Given the description of an element on the screen output the (x, y) to click on. 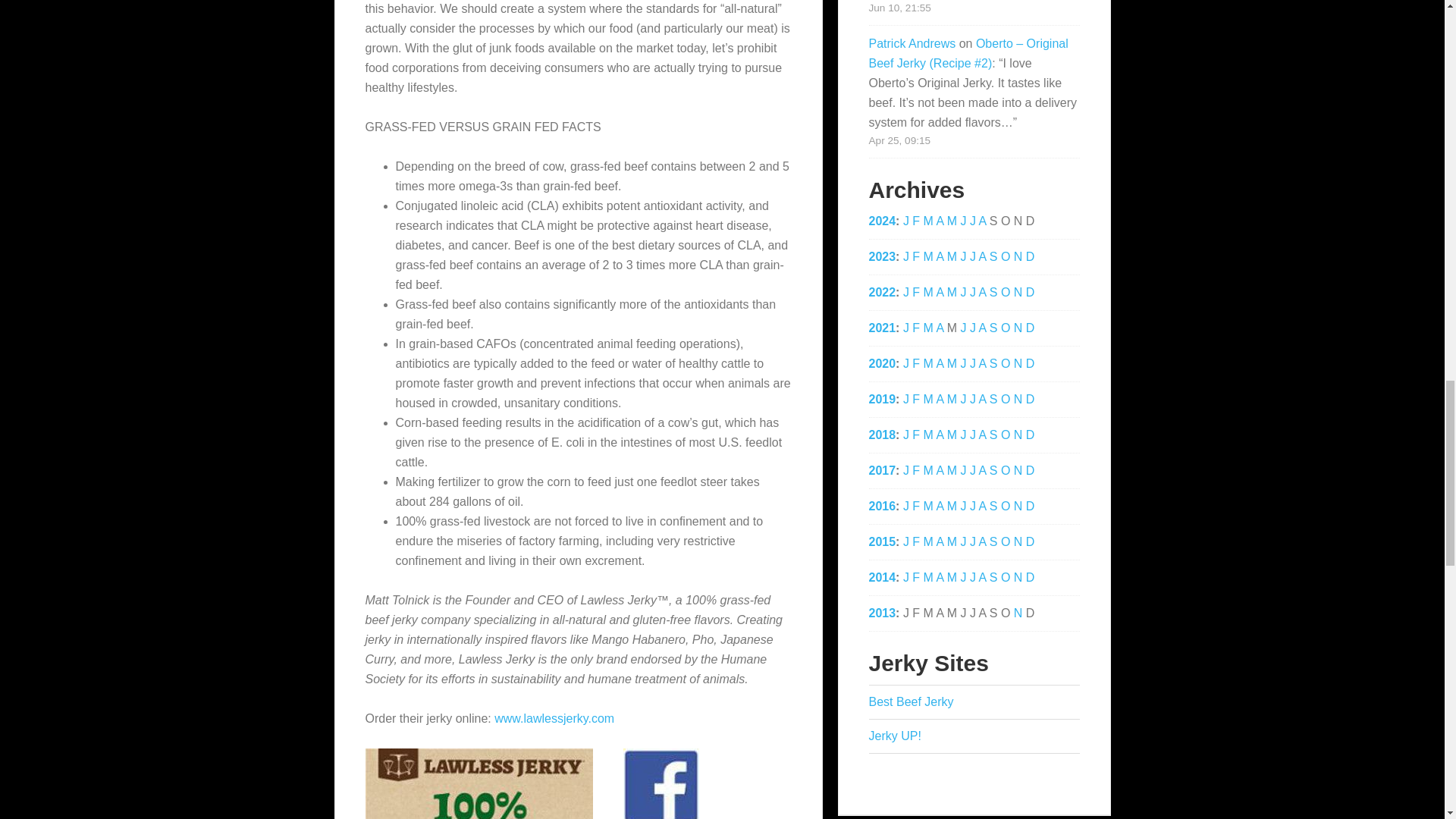
Lawless Jerky (478, 783)
Lawless Jerky Facebook Page (660, 783)
www.lawlessjerky.com (554, 717)
